Given the description of an element on the screen output the (x, y) to click on. 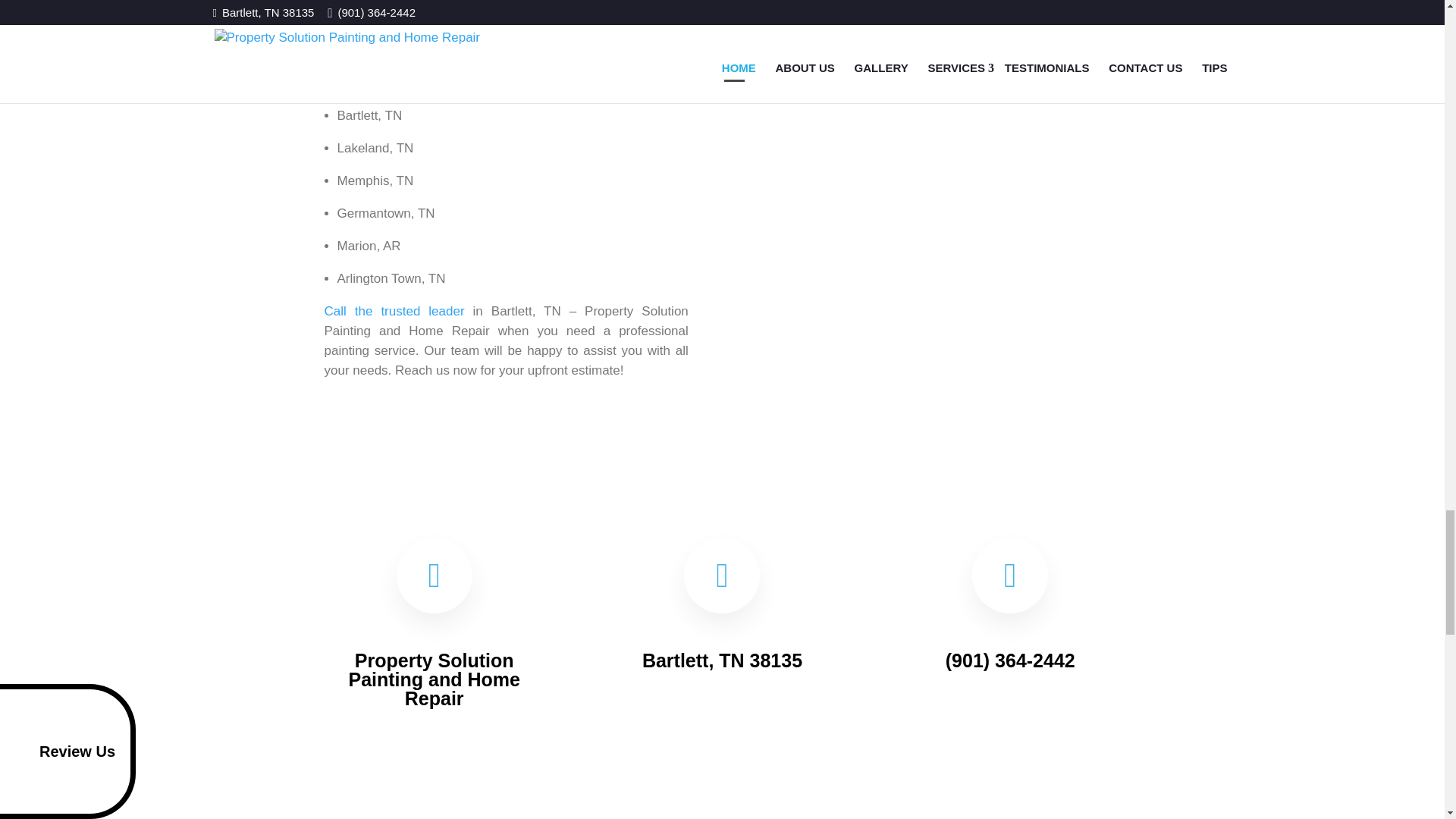
You Can Contact Our Company Today (394, 310)
Call the trusted leader (394, 310)
